Given the description of an element on the screen output the (x, y) to click on. 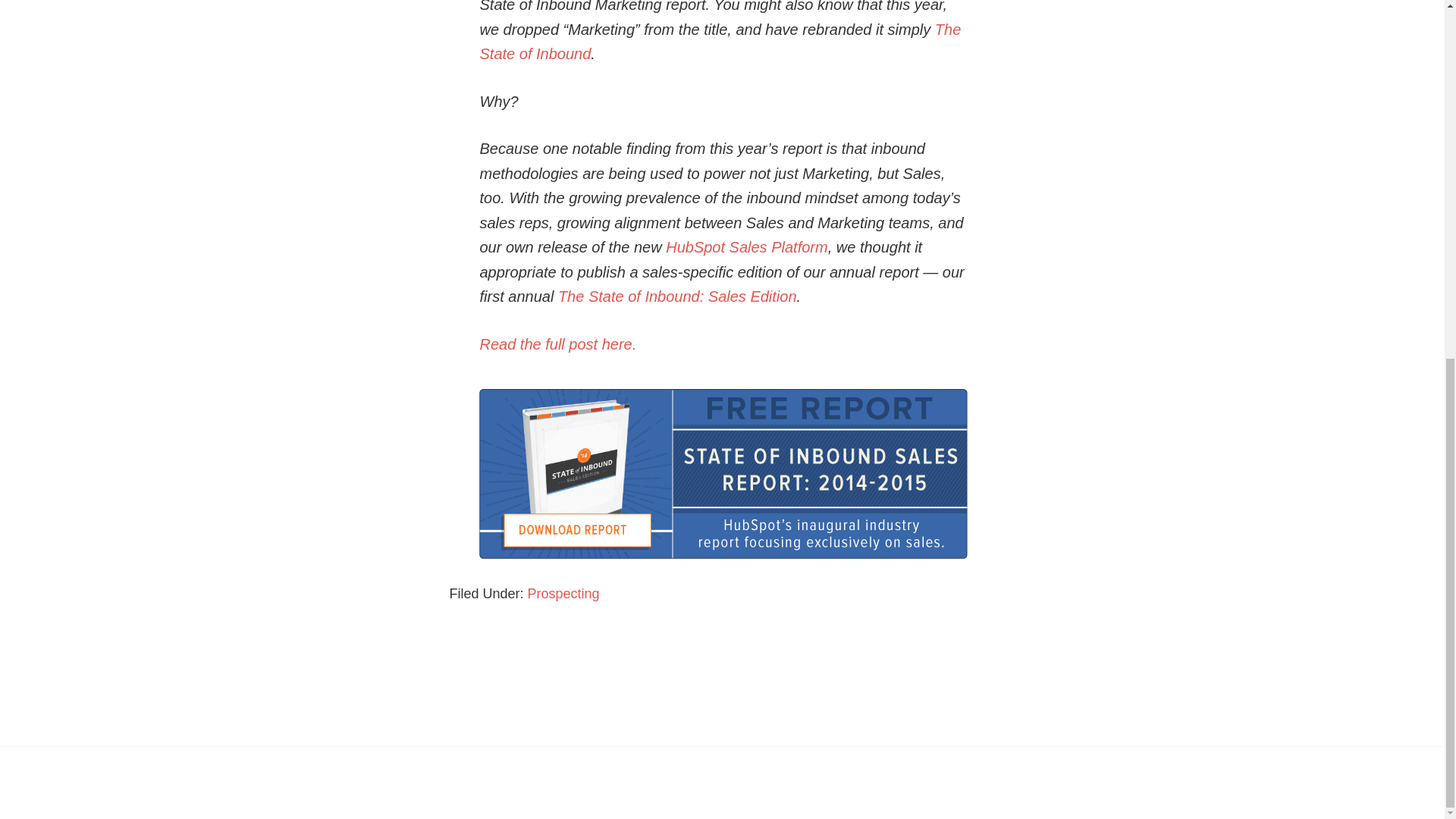
Read the full post here. (557, 343)
The State of Inbound (719, 42)
Hubspot-state-of-inbound-sales (722, 473)
HubSpot Sales Platform (746, 247)
Prospecting (563, 593)
The State of Inbound: Sales Edition (676, 296)
